Given the description of an element on the screen output the (x, y) to click on. 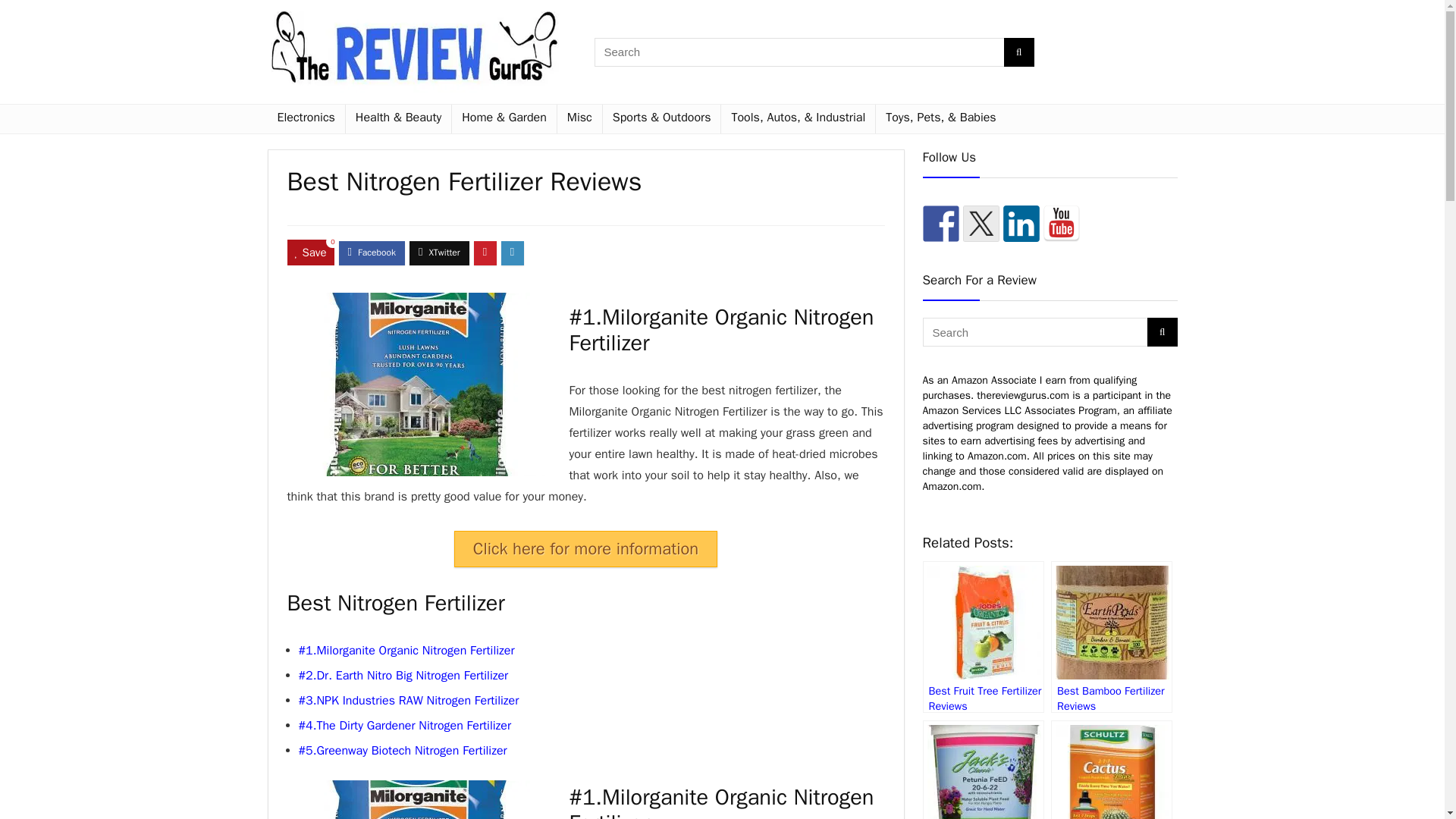
Follow us on Twitter (980, 223)
Misc (579, 118)
Find us on YouTube (1061, 223)
Electronics (304, 118)
Find us on Linkedin (1021, 223)
Best Fruit Tree Fertilizer Reviews (982, 636)
Click here for more information (585, 548)
Follow us on Facebook (939, 223)
